Given the description of an element on the screen output the (x, y) to click on. 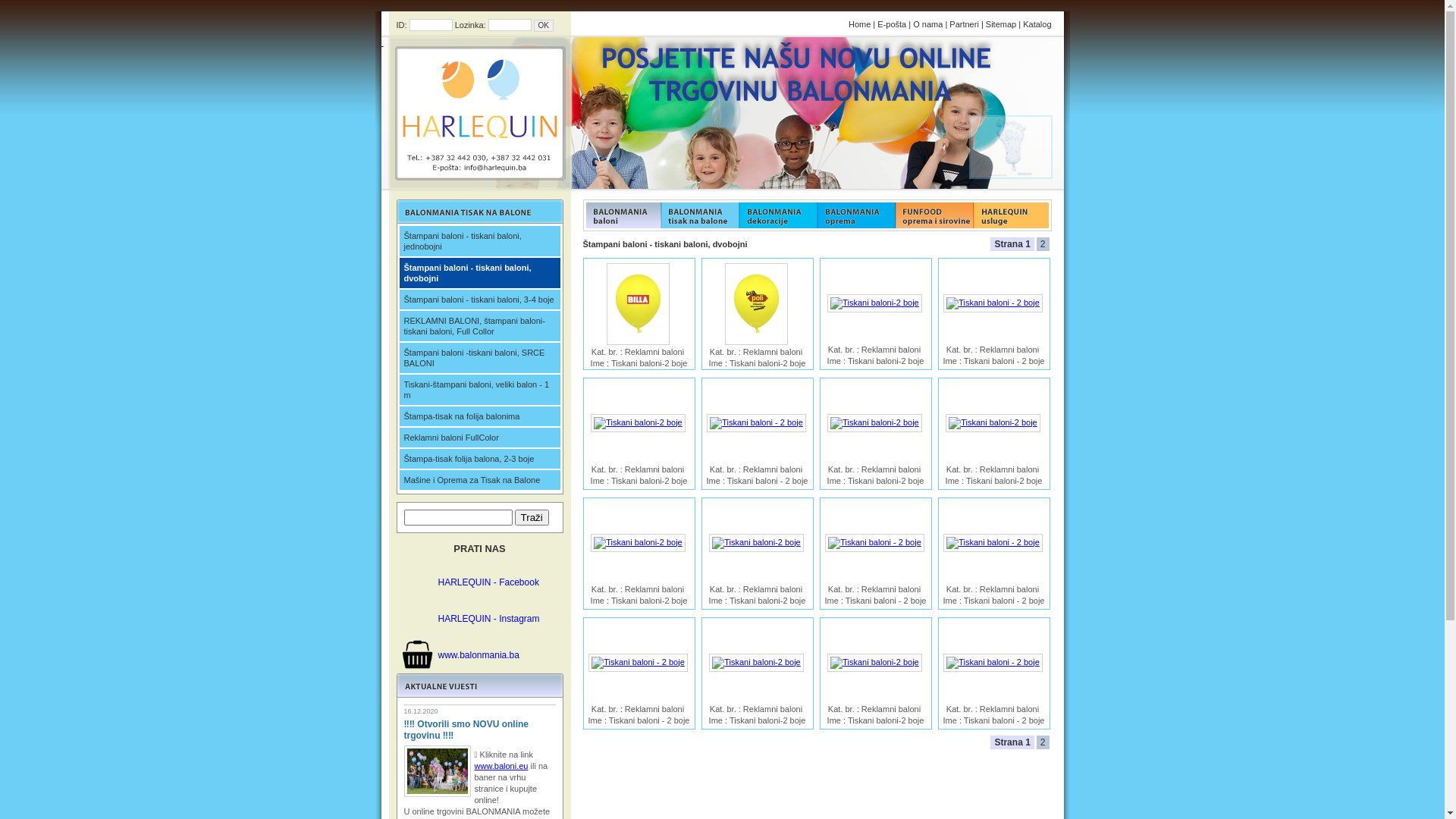
Tiskani baloni - 2 boje Element type: hover (756, 423)
Tiskani baloni-2 boje Element type: hover (874, 662)
www.balonmania.ba Element type: text (478, 654)
HARLEQUIN - Facebook Element type: text (488, 582)
Tiskani baloni-2 boje Element type: hover (755, 304)
FUNFOOD products Element type: text (856, 215)
Tiskani baloni - 2 boje Element type: hover (637, 662)
FUNFOOD products Element type: text (621, 215)
Tiskani baloni - 2 boje Element type: hover (992, 303)
O nama Element type: text (927, 23)
2 Element type: text (1043, 243)
Tiskani baloni-2 boje Element type: hover (756, 662)
Tiskani baloni-2 boje Element type: hover (637, 423)
Tiskani baloni-2 boje Element type: hover (992, 423)
Tiskani baloni-2 boje Element type: hover (874, 423)
Tiskani baloni - 2 boje Element type: hover (992, 542)
FUNFOOD products Element type: text (1012, 215)
FUNFOOD products Element type: text (933, 215)
Tiskani baloni-2 boje Element type: hover (637, 542)
Tiskani baloni - 2 boje Element type: hover (992, 662)
Tiskani baloni-2 boje Element type: hover (637, 304)
  Element type: text (475, 112)
Tiskani baloni-2 boje Element type: hover (756, 542)
Reklamni baloni FullColor Element type: text (478, 437)
Katalog Element type: text (1036, 23)
HARLEQUIN - Instagram Element type: text (488, 618)
Home Element type: text (859, 23)
www.baloni.eu Element type: text (501, 765)
FUNFOOD products Element type: text (777, 215)
OK Element type: text (543, 25)
Partneri Element type: text (964, 23)
2 Element type: text (1043, 741)
Sitemap Element type: text (1000, 23)
Tiskani baloni - 2 boje Element type: hover (874, 542)
Tiskani baloni-2 boje Element type: hover (874, 303)
FUNFOOD products Element type: text (700, 215)
